Given the description of an element on the screen output the (x, y) to click on. 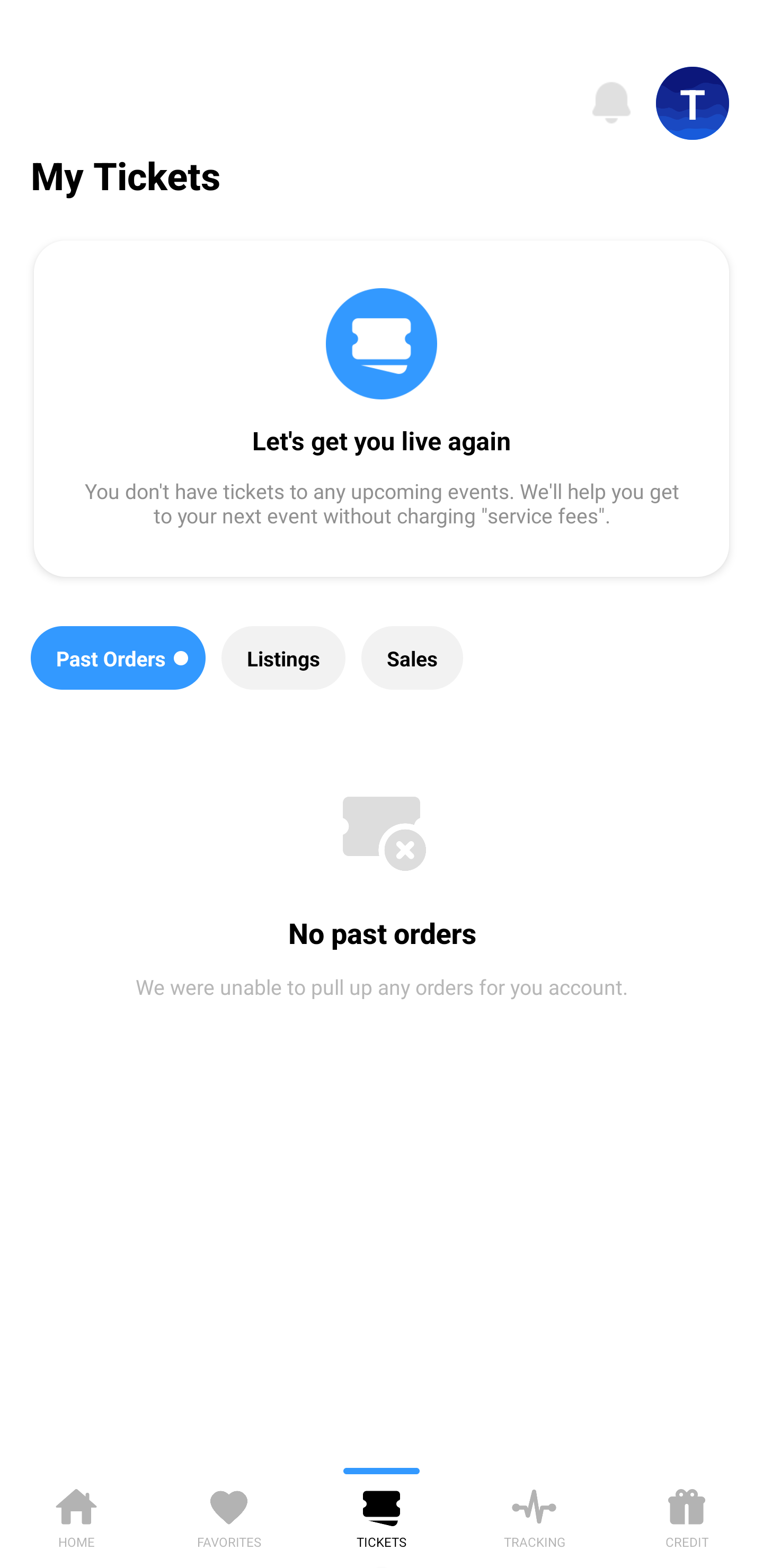
T (692, 103)
Past Orders (117, 657)
Listings (283, 657)
Sales (412, 657)
HOME (76, 1515)
FAVORITES (228, 1515)
TICKETS (381, 1515)
TRACKING (533, 1515)
CREDIT (686, 1515)
